Given the description of an element on the screen output the (x, y) to click on. 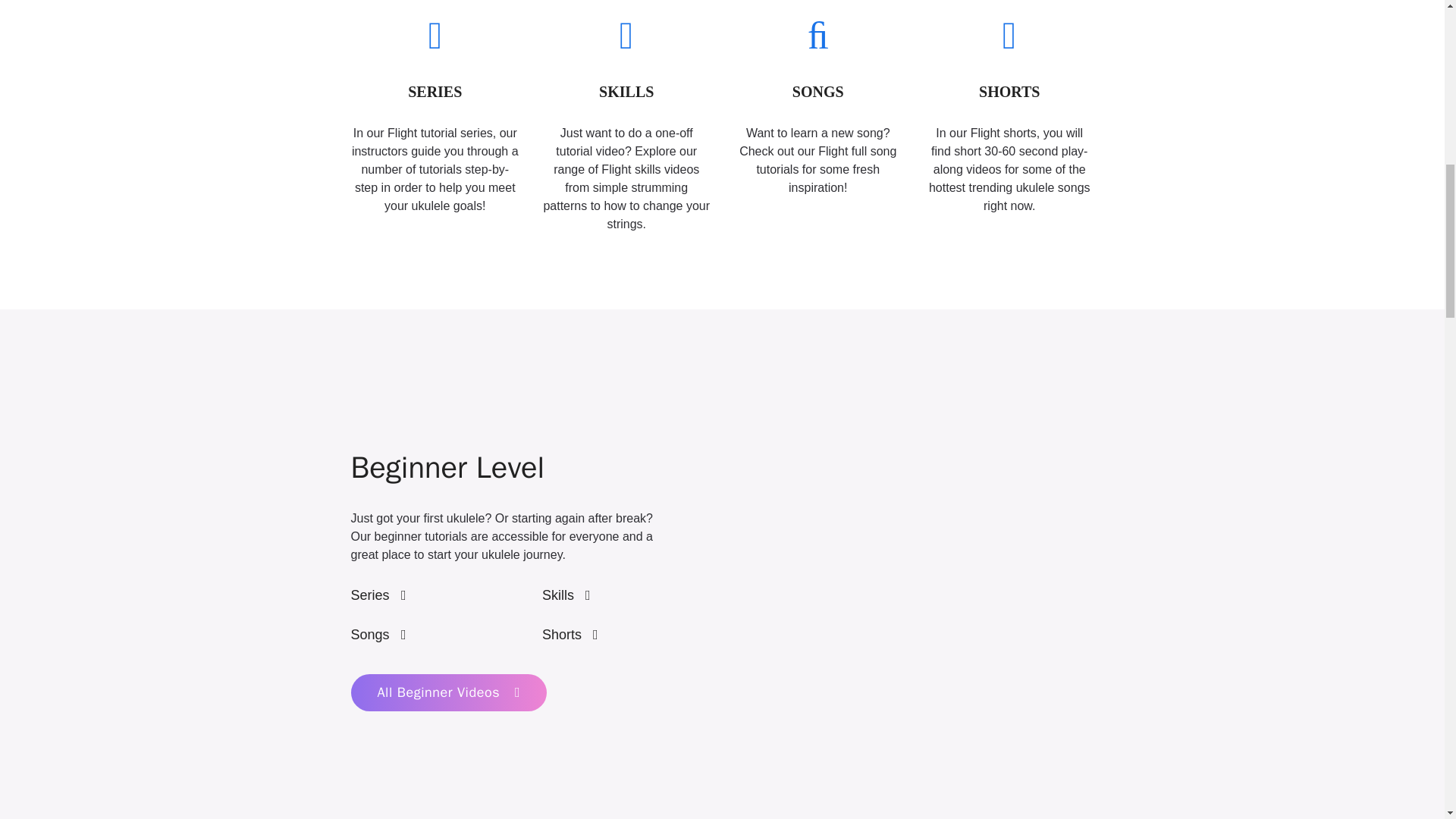
Skills (566, 595)
All Beginner Videos (448, 692)
Skills (566, 595)
Shorts (569, 634)
Shorts (569, 634)
Skills (566, 595)
Series (378, 595)
All Beginner Videos (448, 692)
Songs (378, 634)
Shorts (569, 634)
Series (378, 595)
Songs (378, 634)
Series (378, 595)
